Given the description of an element on the screen output the (x, y) to click on. 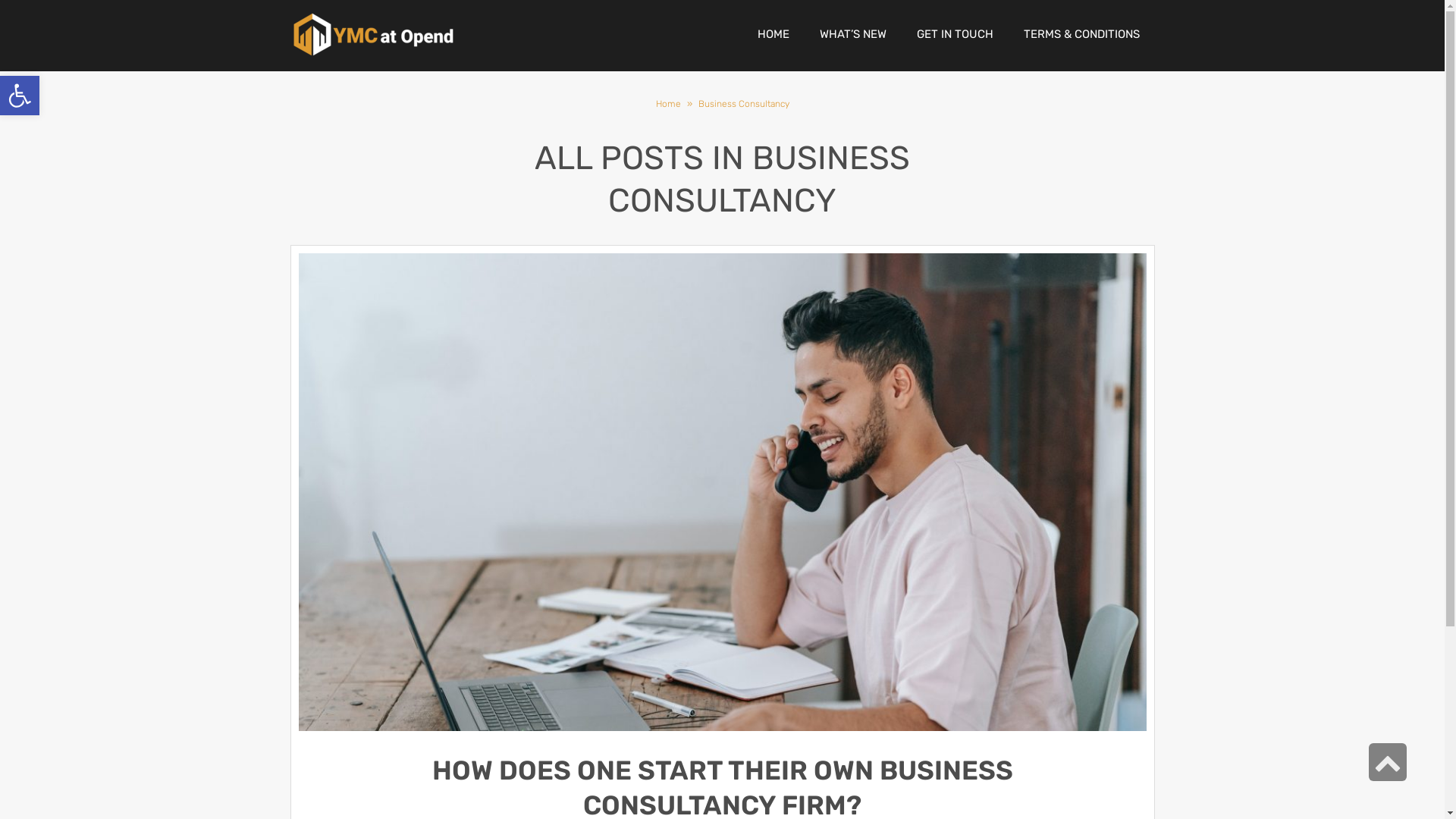
GET IN TOUCH Element type: text (953, 34)
HOME Element type: text (772, 34)
Open toolbar
Accessibility Tools Element type: text (19, 95)
Scroll to top Element type: text (1387, 762)
TERMS & CONDITIONS Element type: text (1081, 34)
How Does One Start Their Own Business Consultancy Firm? Element type: hover (722, 492)
Home Element type: text (668, 103)
